Given the description of an element on the screen output the (x, y) to click on. 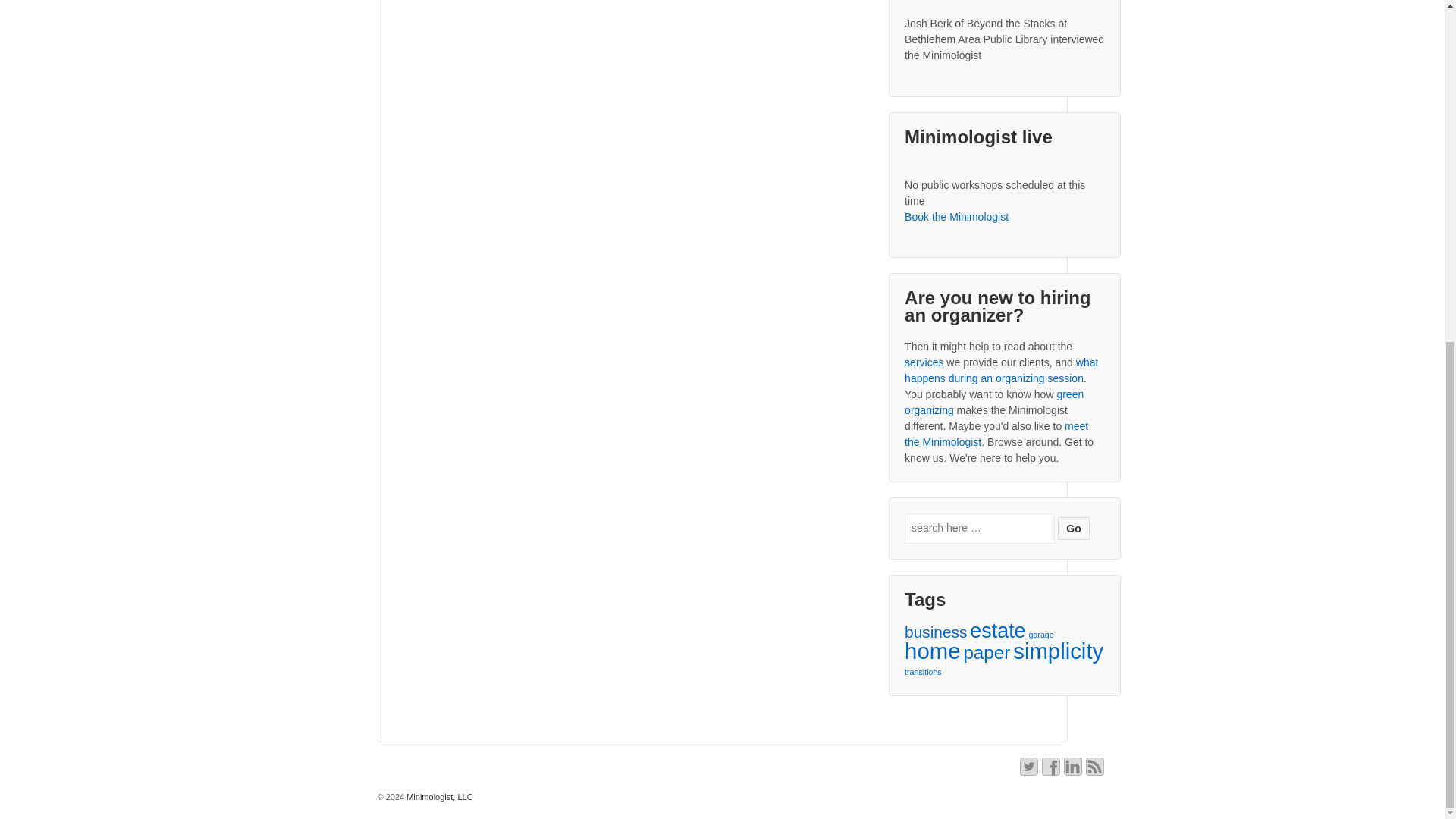
estate (997, 631)
business (935, 631)
green organizing (993, 402)
simplicity (1058, 650)
services (923, 362)
Go (1073, 527)
Minimologist (437, 796)
meet the Minimologist (995, 433)
Go (1073, 527)
what happens during an organizing session (1000, 370)
